Given the description of an element on the screen output the (x, y) to click on. 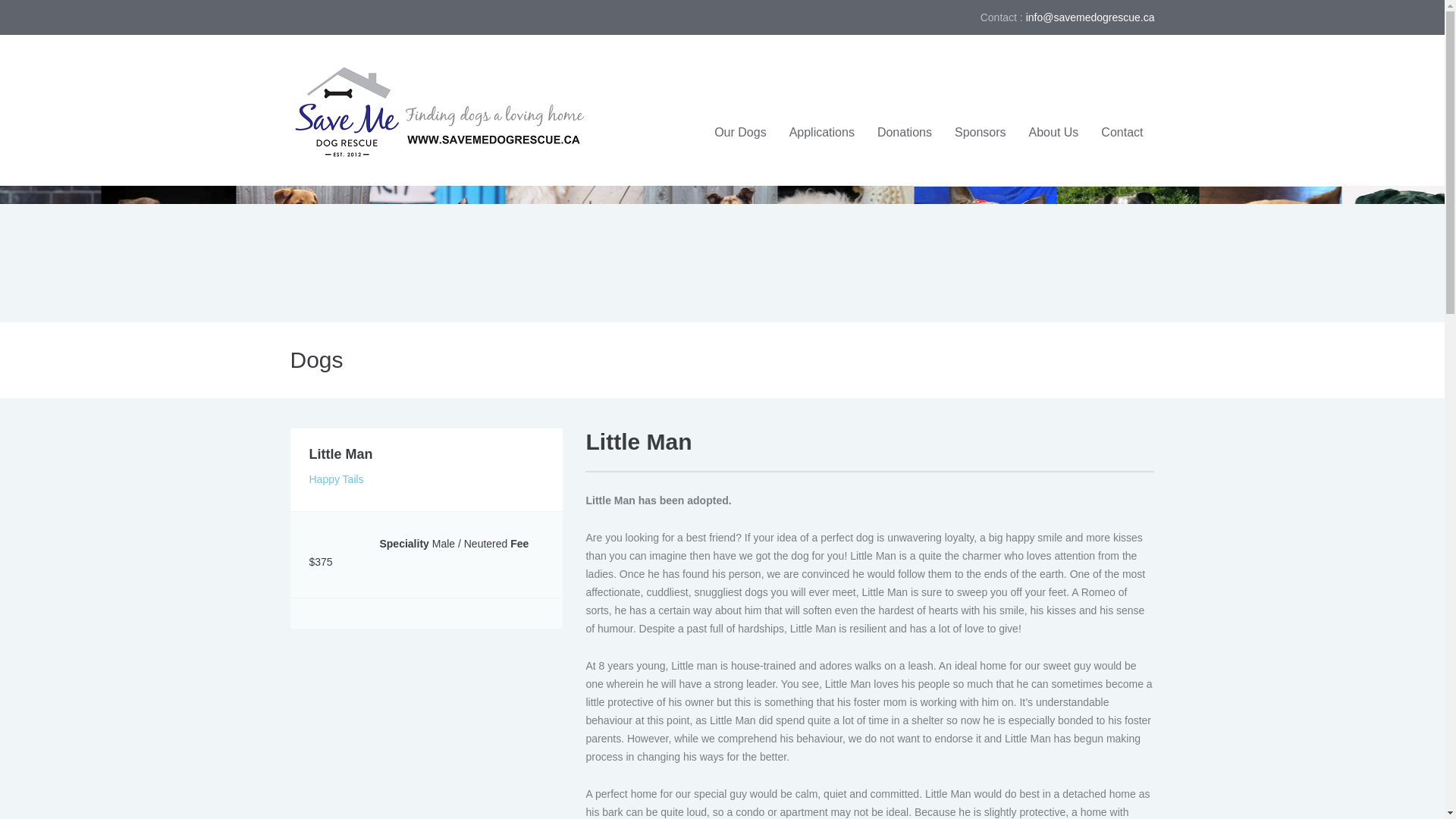
About Us (1053, 132)
Applications (821, 132)
Donations (904, 132)
Sponsors (980, 132)
Contact (1121, 132)
Happy Tails (336, 479)
Our Dogs (740, 132)
